Given the description of an element on the screen output the (x, y) to click on. 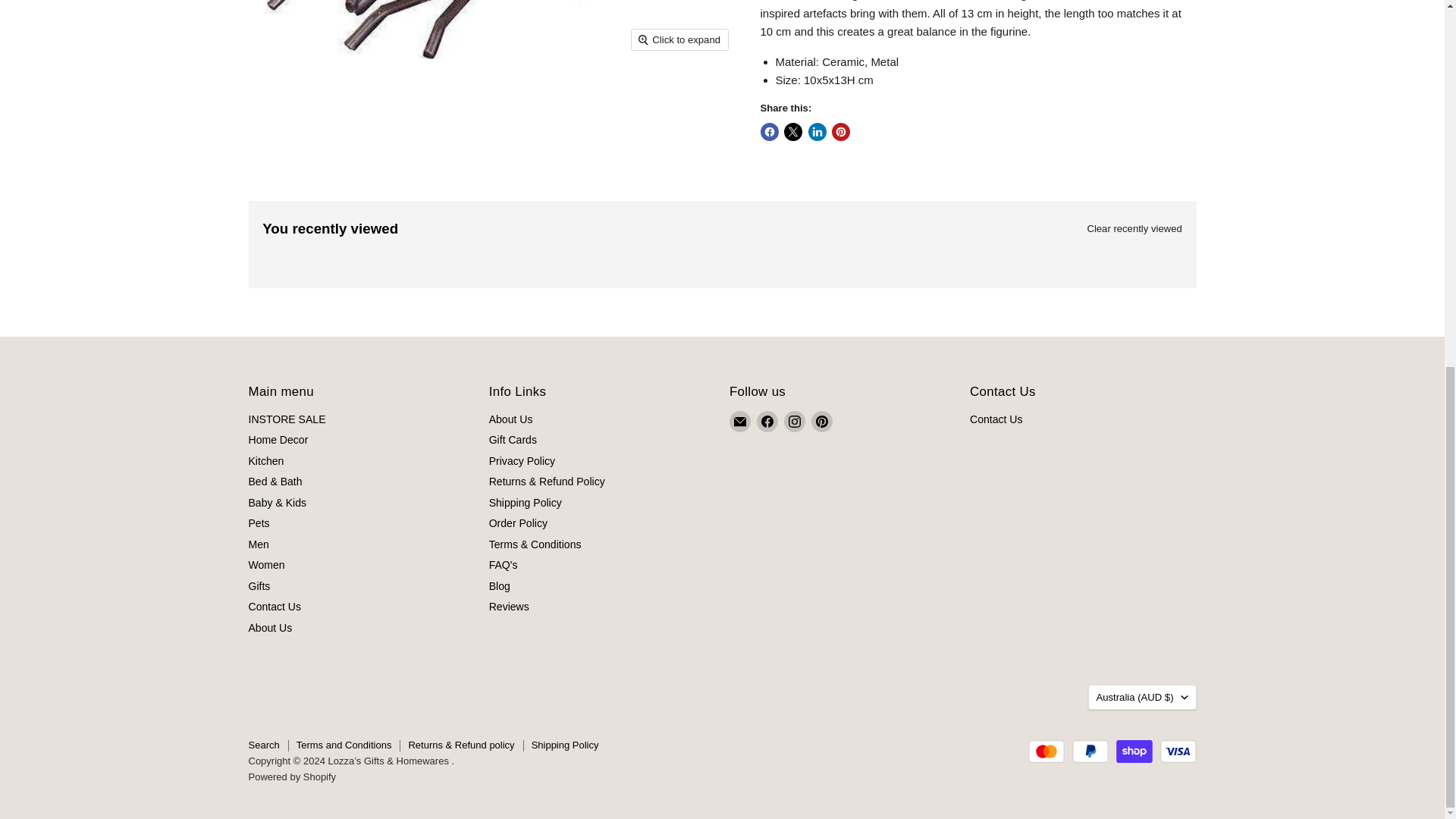
Pinterest (821, 421)
Email (740, 421)
Instagram (794, 421)
Facebook (767, 421)
